Given the description of an element on the screen output the (x, y) to click on. 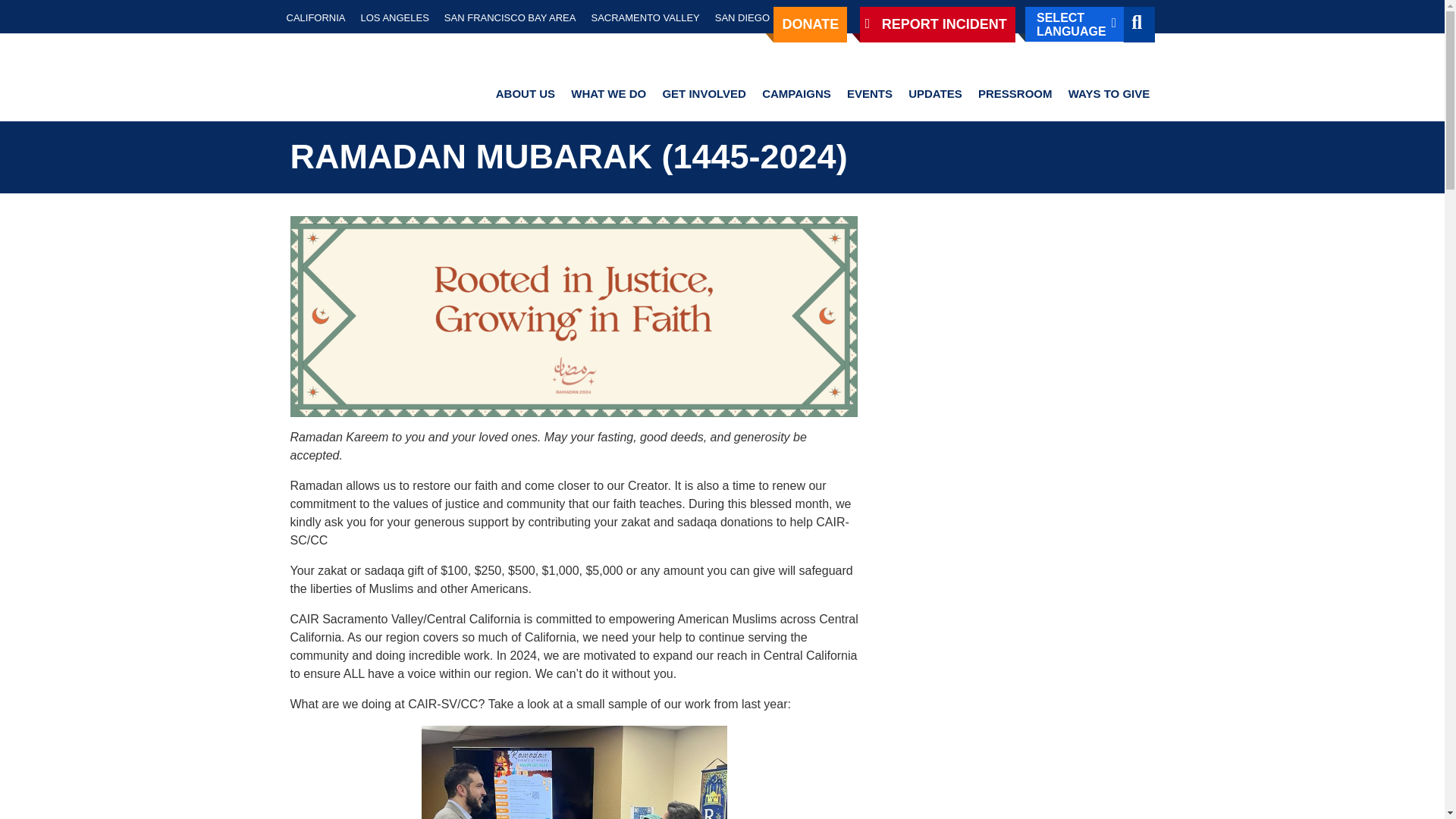
WHAT WE DO (608, 94)
DONATE (810, 24)
SACRAMENTO VALLEY (644, 17)
CALIFORNIA (316, 17)
SAN DIEGO (742, 17)
SAN FRANCISCO BAY AREA (509, 17)
LOS ANGELES (394, 17)
REPORT INCIDENT (937, 24)
ABOUT US (525, 94)
